Given the description of an element on the screen output the (x, y) to click on. 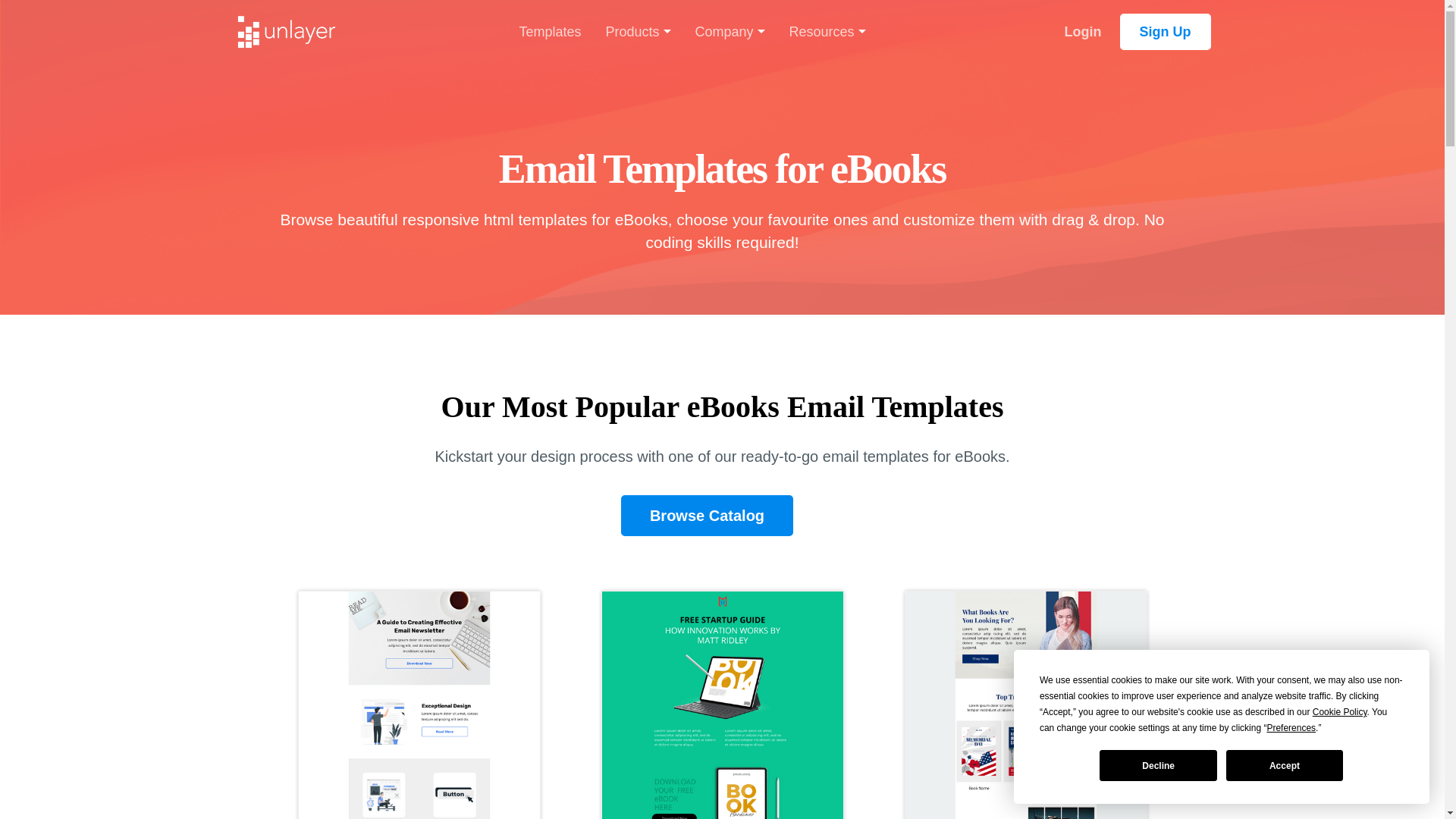
Decline (418, 704)
Browse Catalog (721, 704)
Login (1025, 704)
Sign Up (1157, 765)
Templates (707, 515)
Accept (1082, 31)
